Given the description of an element on the screen output the (x, y) to click on. 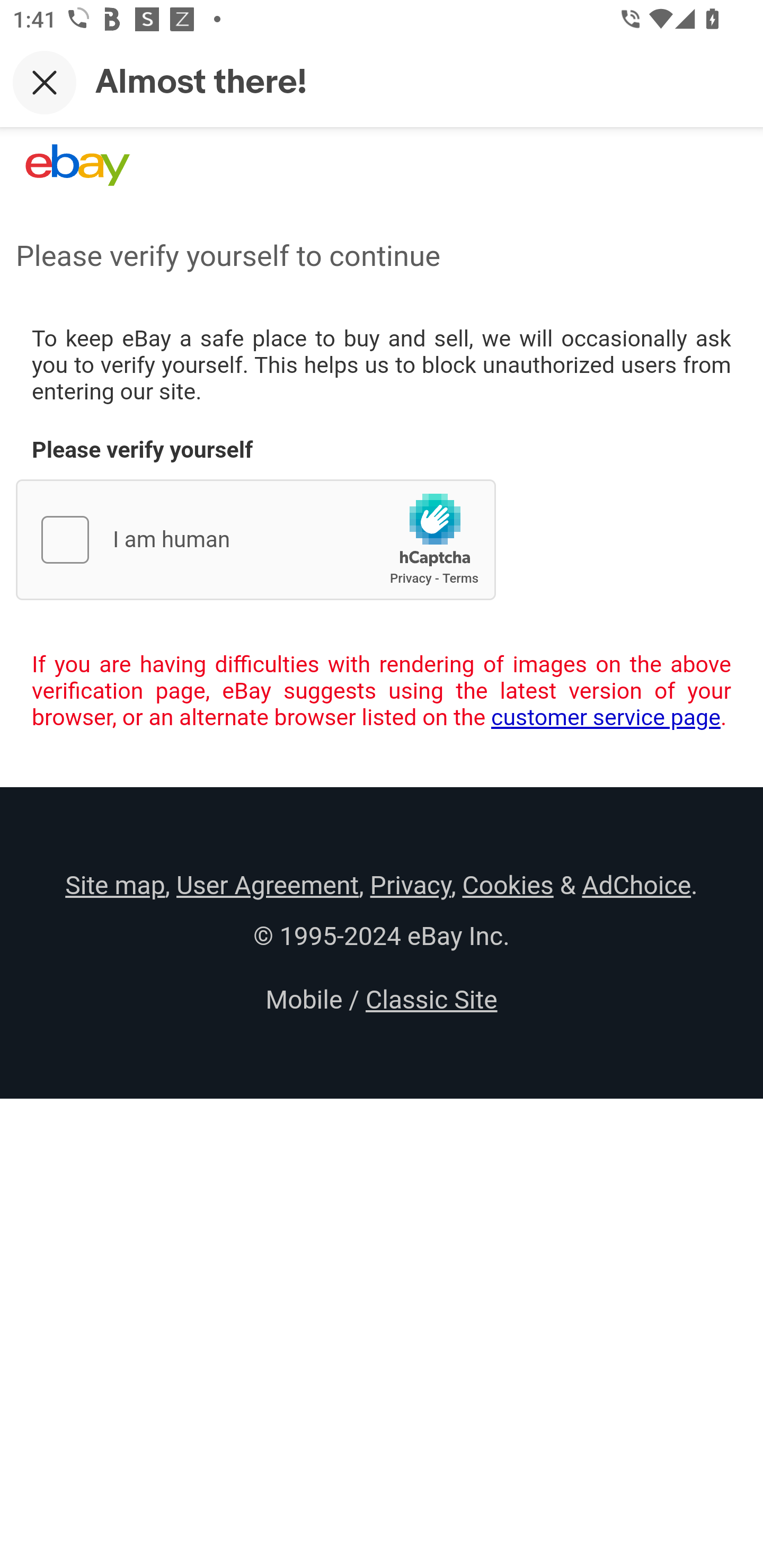
Close (44, 82)
eBay Home (77, 165)
hCaptcha Privacy Policy Privacy (410, 578)
hCaptcha Terms of Service Terms (459, 578)
customer service page (605, 717)
Site map (114, 884)
User Agreement (266, 884)
Privacy (409, 884)
Cookies (507, 884)
AdChoice (636, 884)
